Given the description of an element on the screen output the (x, y) to click on. 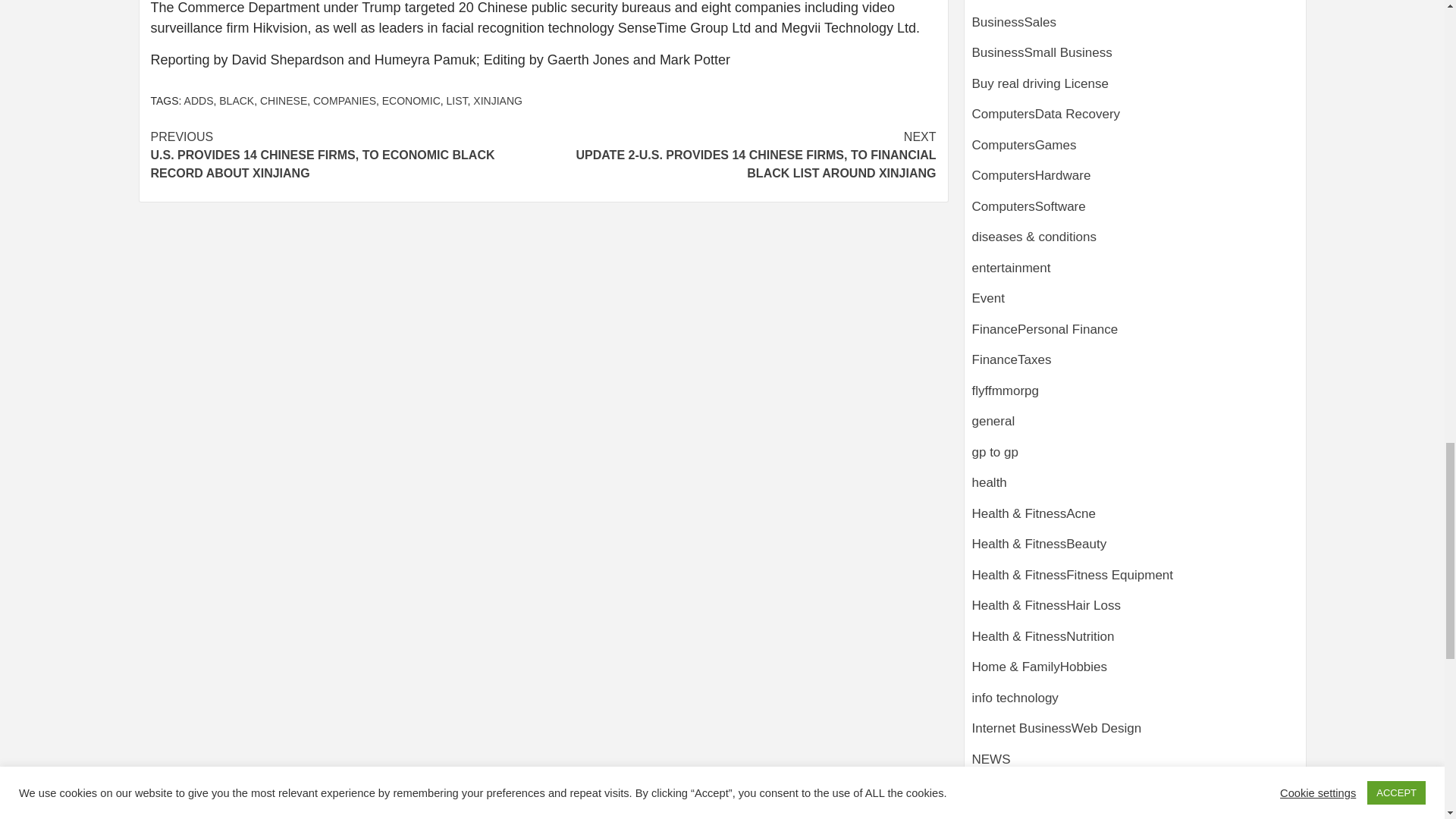
ADDS (199, 101)
COMPANIES (344, 101)
LIST (456, 101)
BLACK (236, 101)
ECONOMIC (411, 101)
XINJIANG (497, 101)
CHINESE (283, 101)
